Given the description of an element on the screen output the (x, y) to click on. 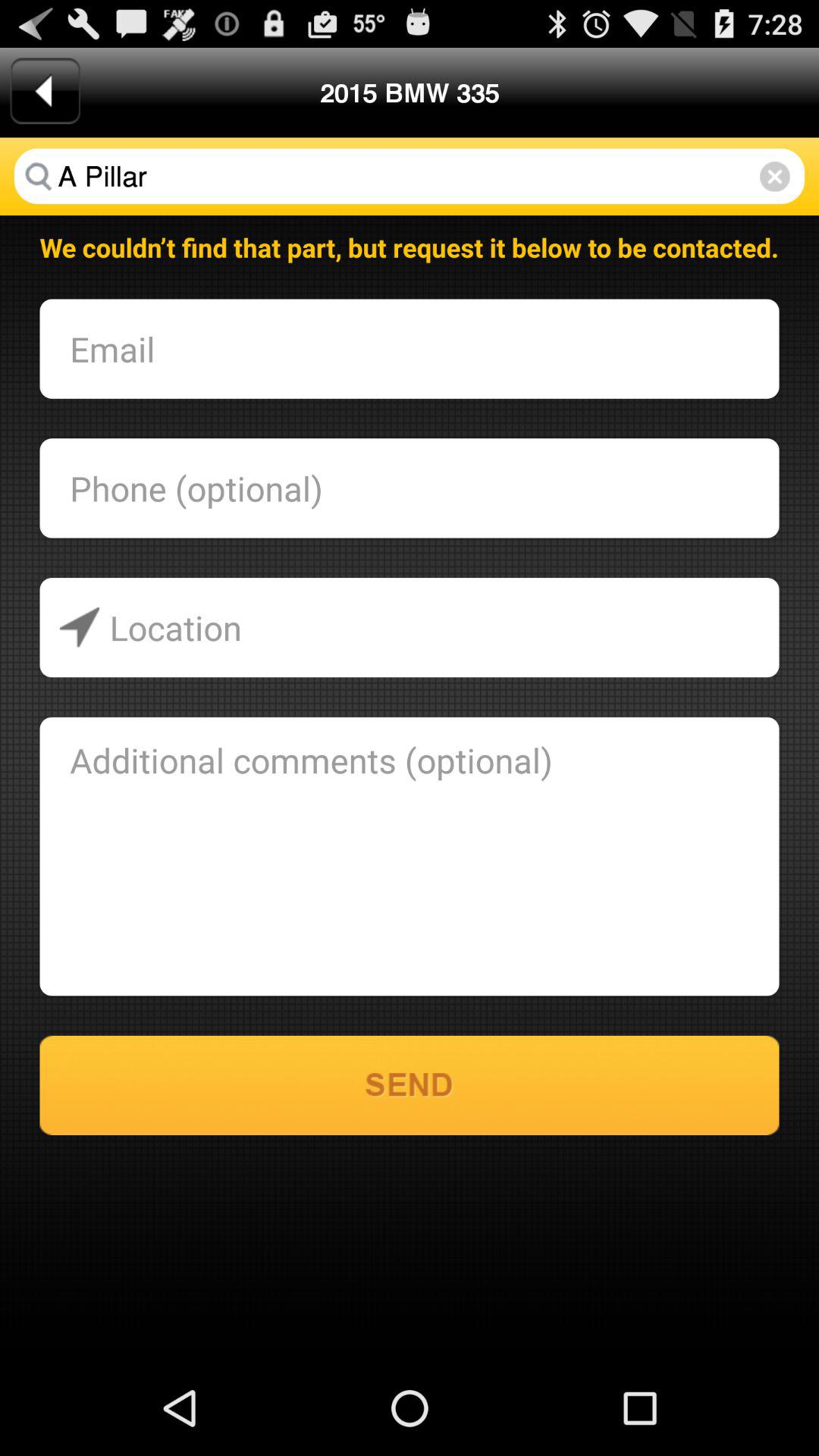
swipe until the a pillar (409, 176)
